Given the description of an element on the screen output the (x, y) to click on. 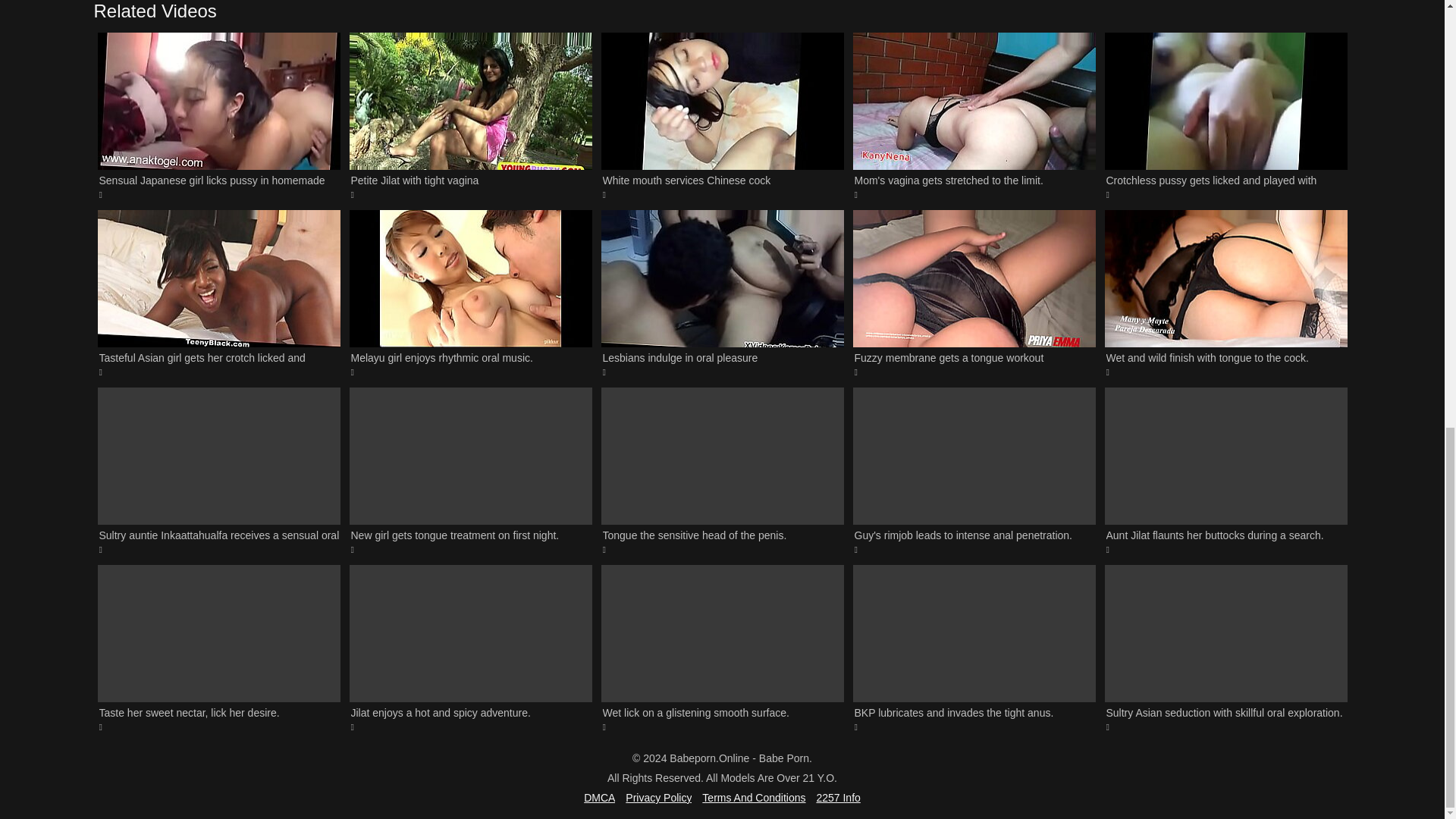
BKP lubricates and invades the tight anus. (972, 649)
Wet lick on a glistening smooth surface. (721, 649)
Fuzzy membrane gets a tongue workout (972, 293)
Crotchless pussy gets licked and played with (1224, 115)
Lesbians indulge in oral pleasure (721, 293)
Mom's vagina gets stretched to the limit. (972, 115)
Mom's vagina gets stretched to the limit. (972, 115)
Wet and wild finish with tongue to the cock. (1224, 293)
White mouth services Chinese cock (721, 115)
Terms And Conditions (753, 797)
